Given the description of an element on the screen output the (x, y) to click on. 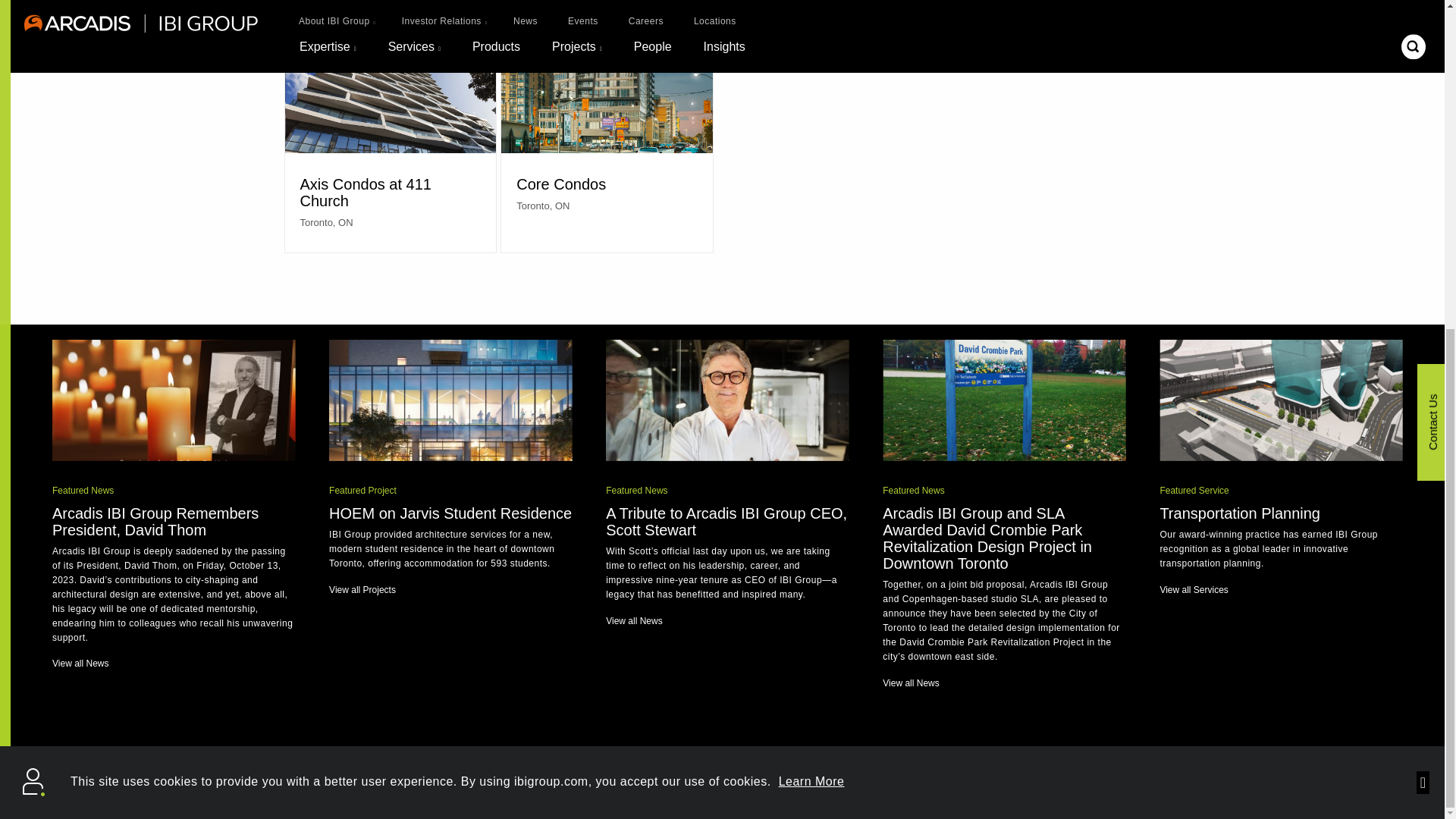
Learn More (811, 237)
